Given the description of an element on the screen output the (x, y) to click on. 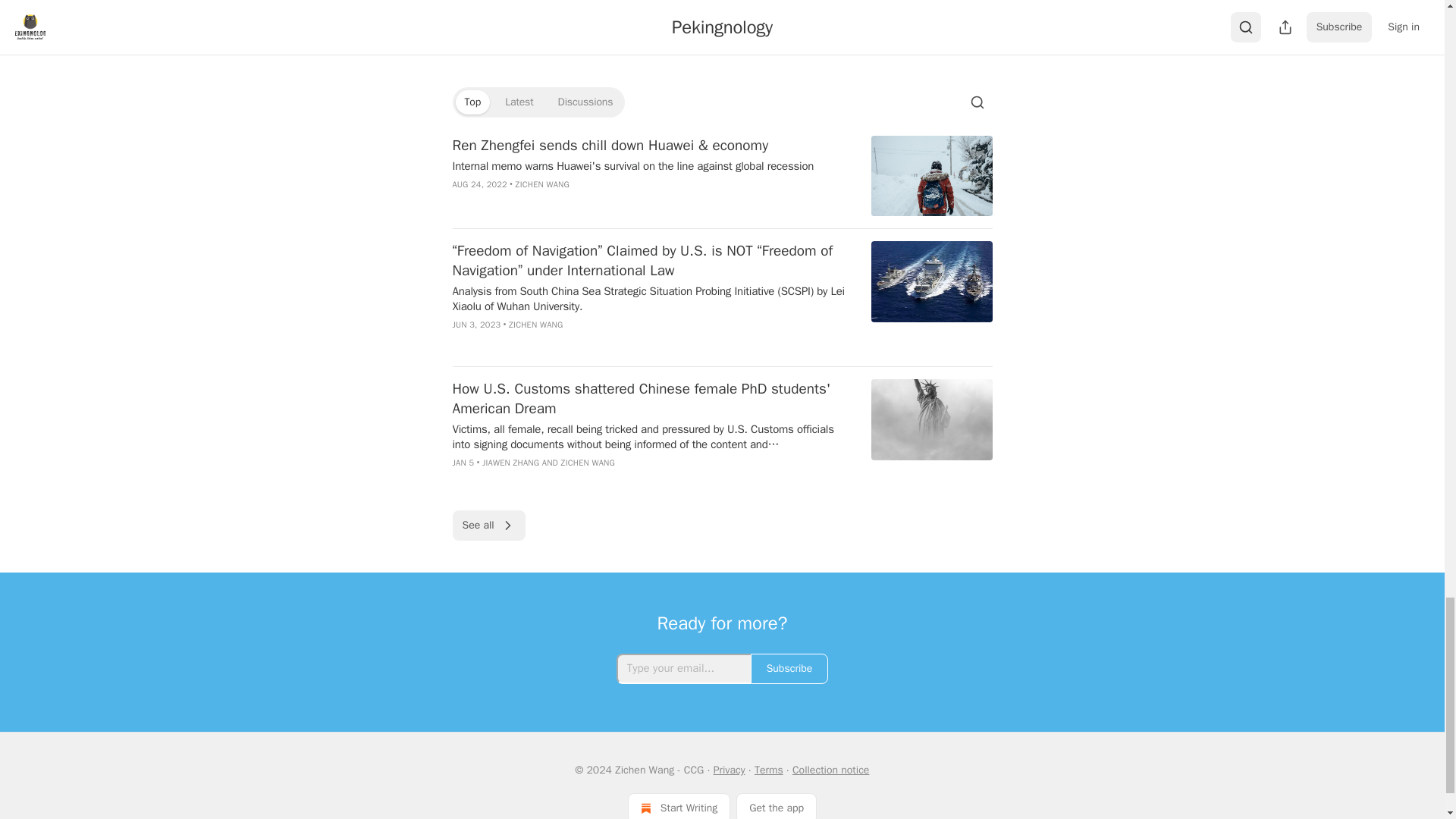
Top (471, 102)
